Given the description of an element on the screen output the (x, y) to click on. 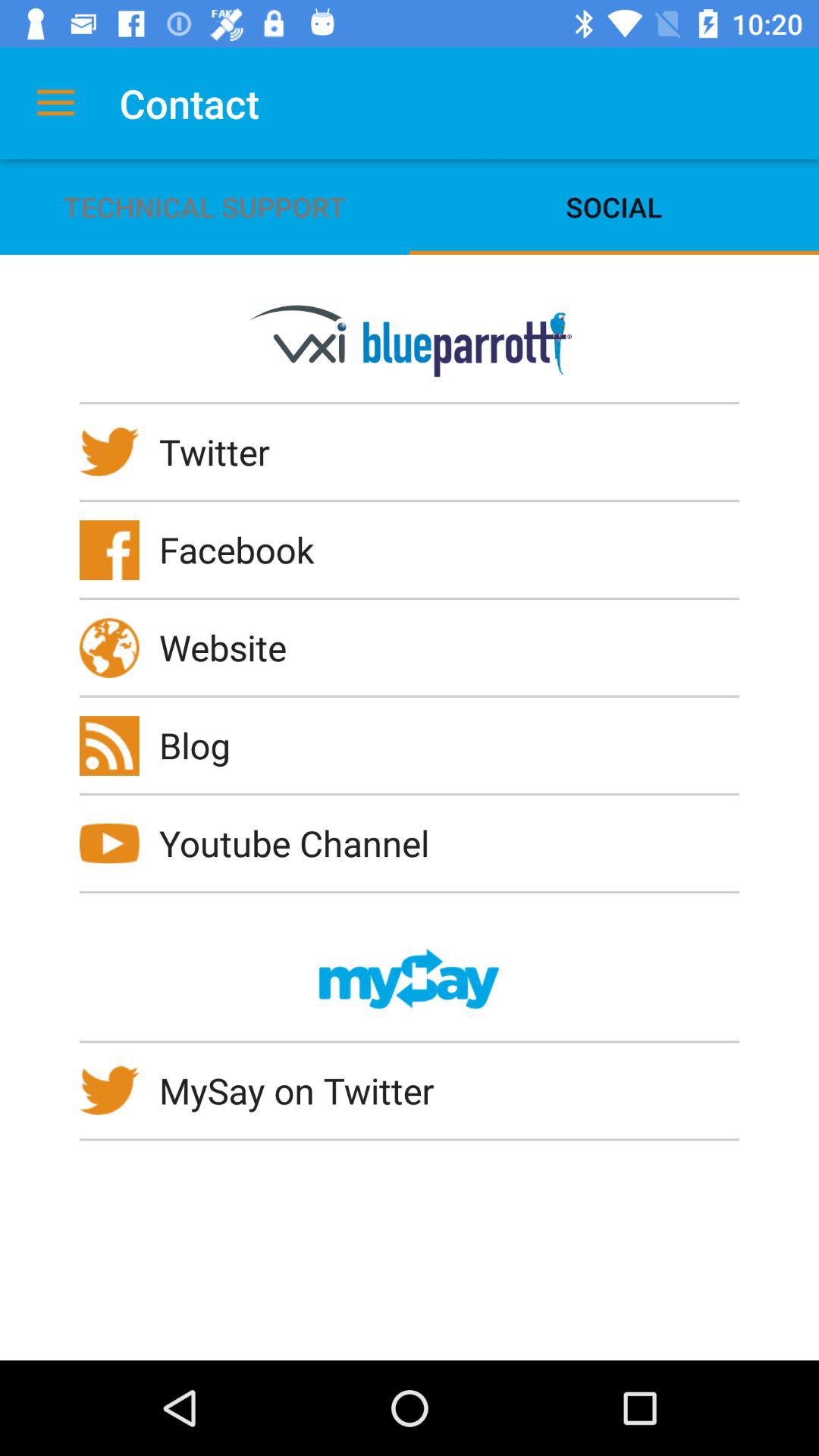
choose blog (204, 745)
